Given the description of an element on the screen output the (x, y) to click on. 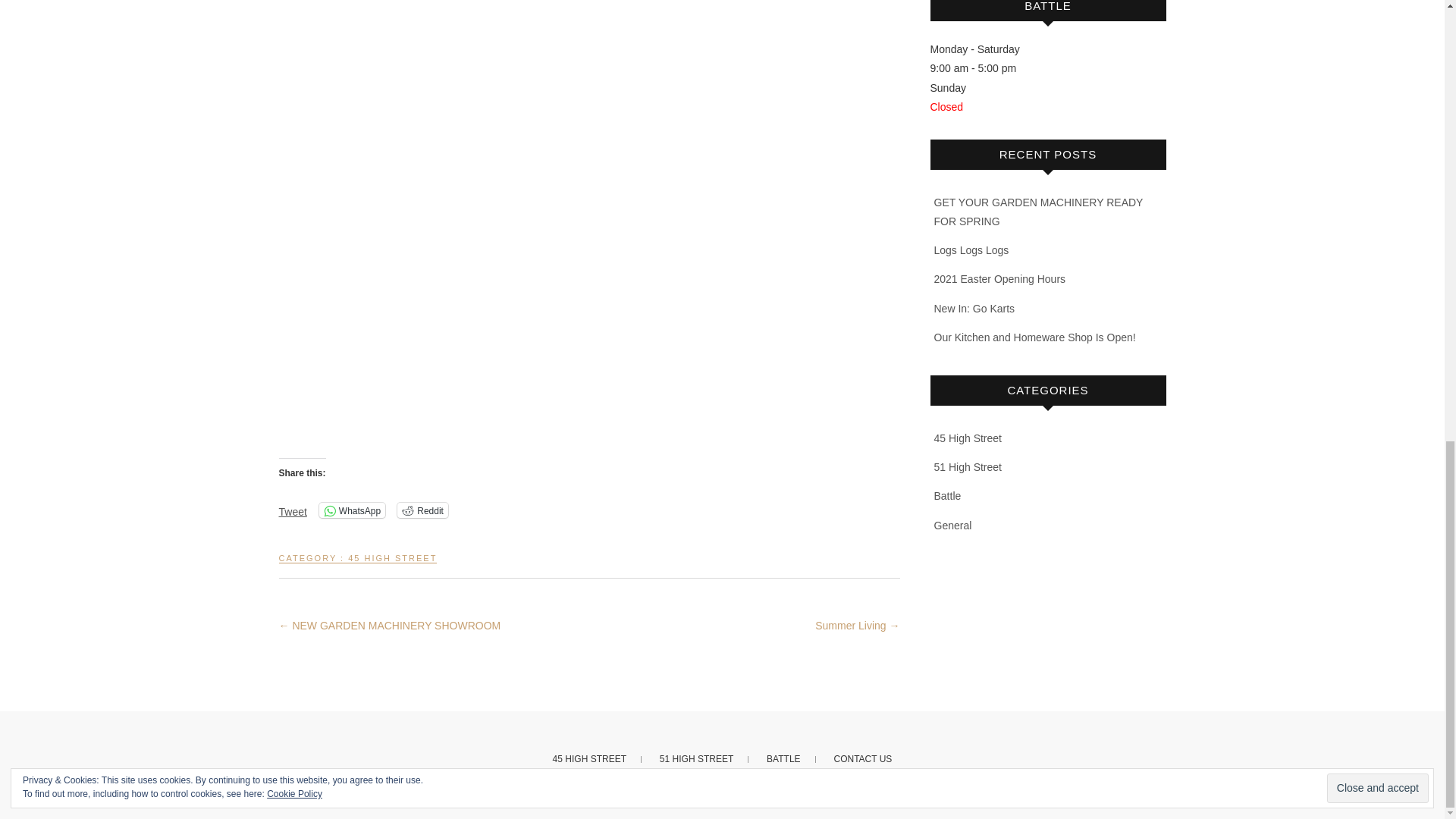
45 High Street (968, 438)
GET YOUR GARDEN MACHINERY READY FOR SPRING (1038, 211)
Webbs (614, 799)
51 High Street (968, 467)
Theme Freesia (731, 799)
General (953, 525)
Click to share on WhatsApp (351, 509)
Reddit (422, 509)
Battle (947, 495)
2021 Easter Opening Hours (999, 278)
